Given the description of an element on the screen output the (x, y) to click on. 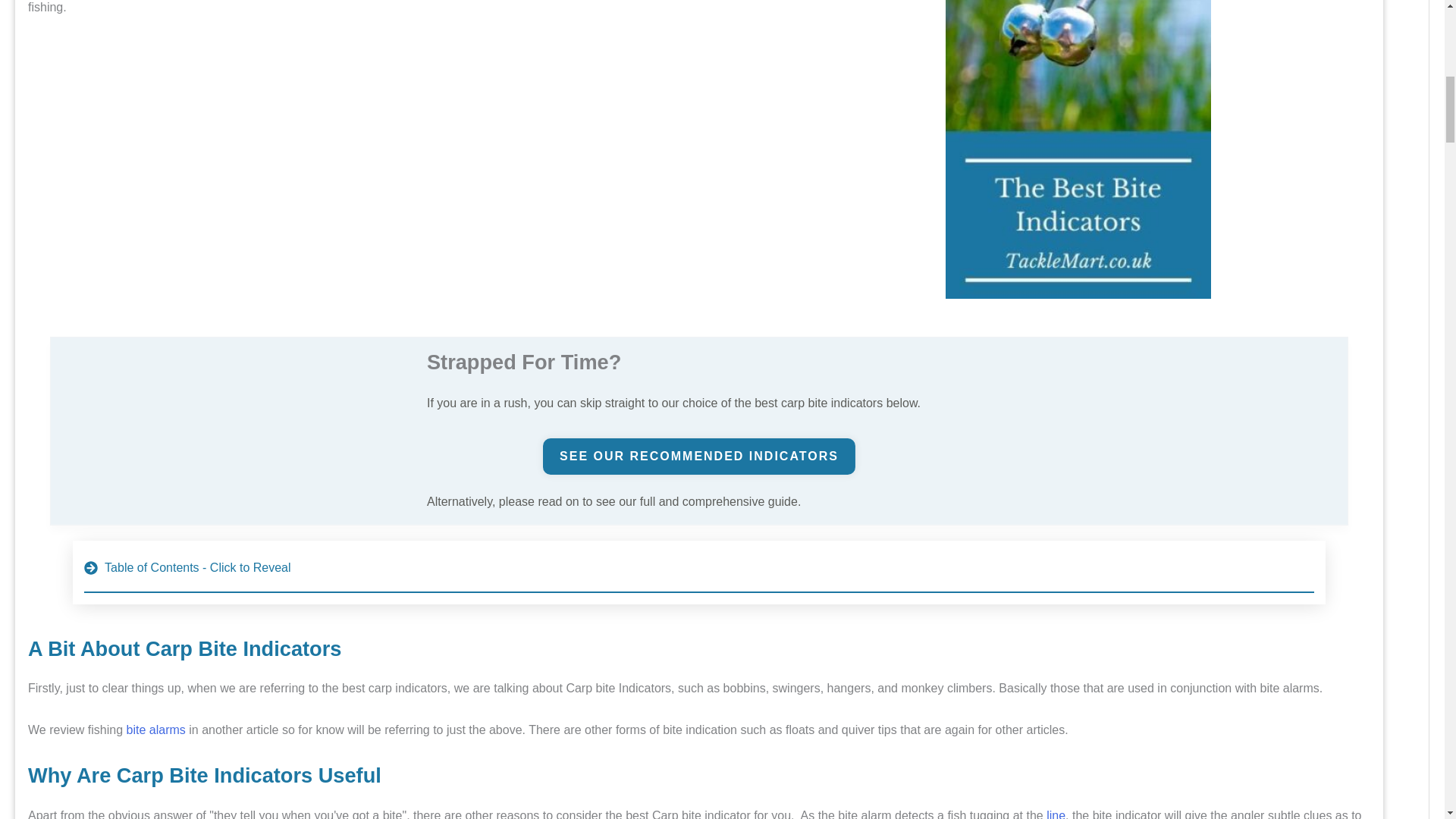
SEE OUR RECOMMENDED INDICATORS (699, 456)
SEE OUR RECOMMENDED INDICATORS (699, 456)
Table of Contents - Click to Reveal (698, 572)
